Given the description of an element on the screen output the (x, y) to click on. 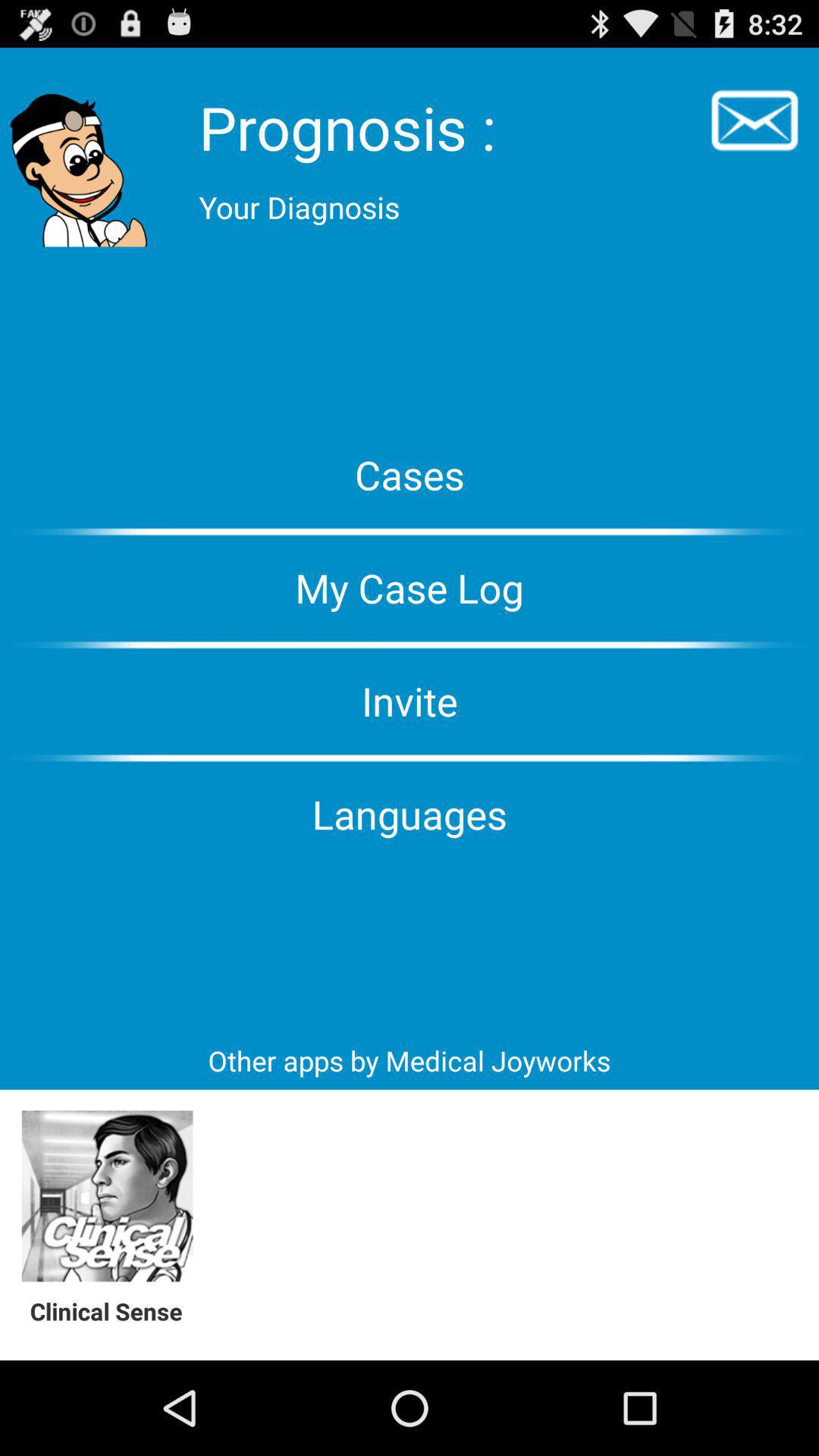
scroll to the clinical sense app (114, 1311)
